Given the description of an element on the screen output the (x, y) to click on. 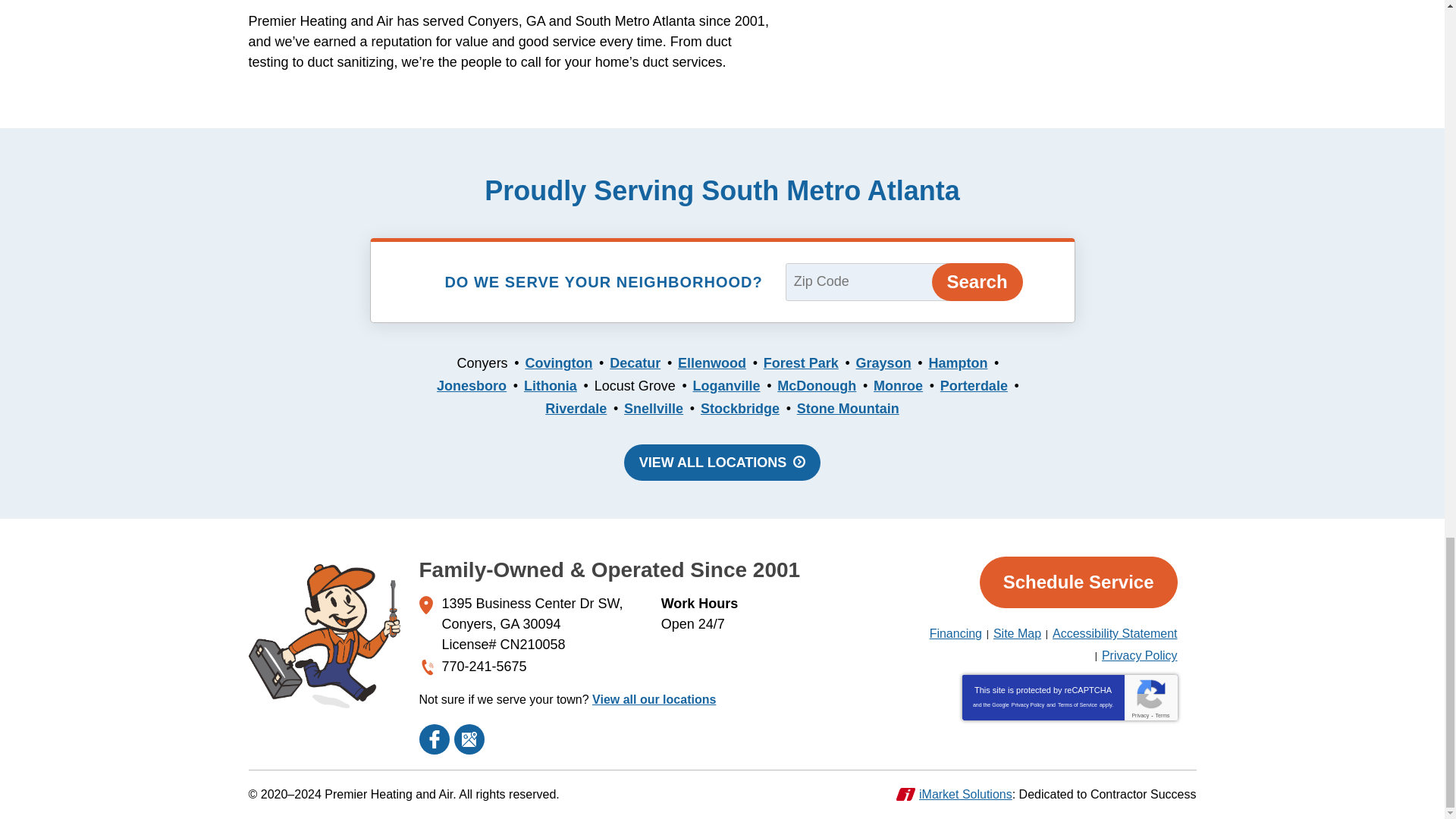
Search (977, 281)
